Given the description of an element on the screen output the (x, y) to click on. 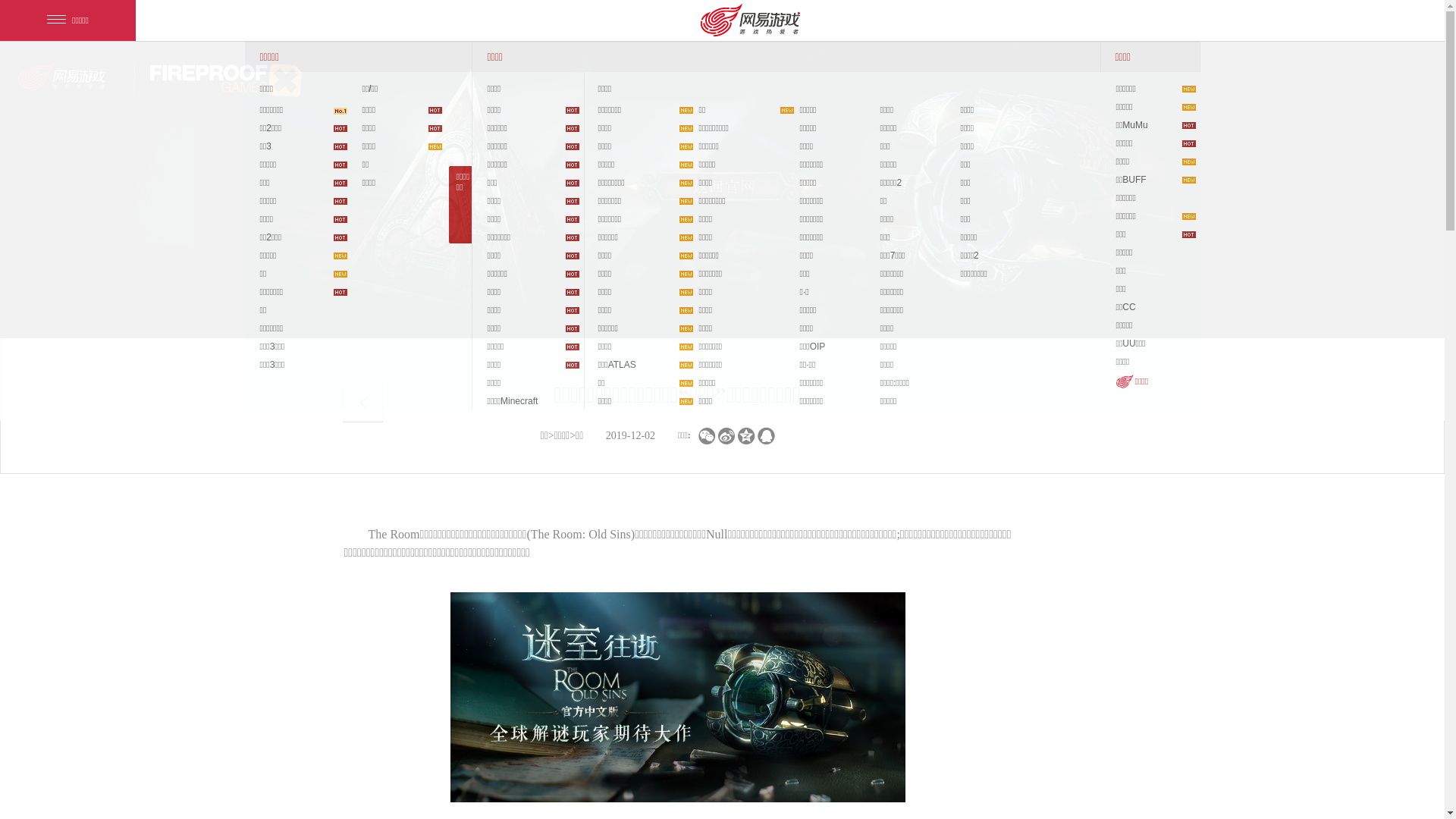
fireproof Element type: hover (225, 80)
